Given the description of an element on the screen output the (x, y) to click on. 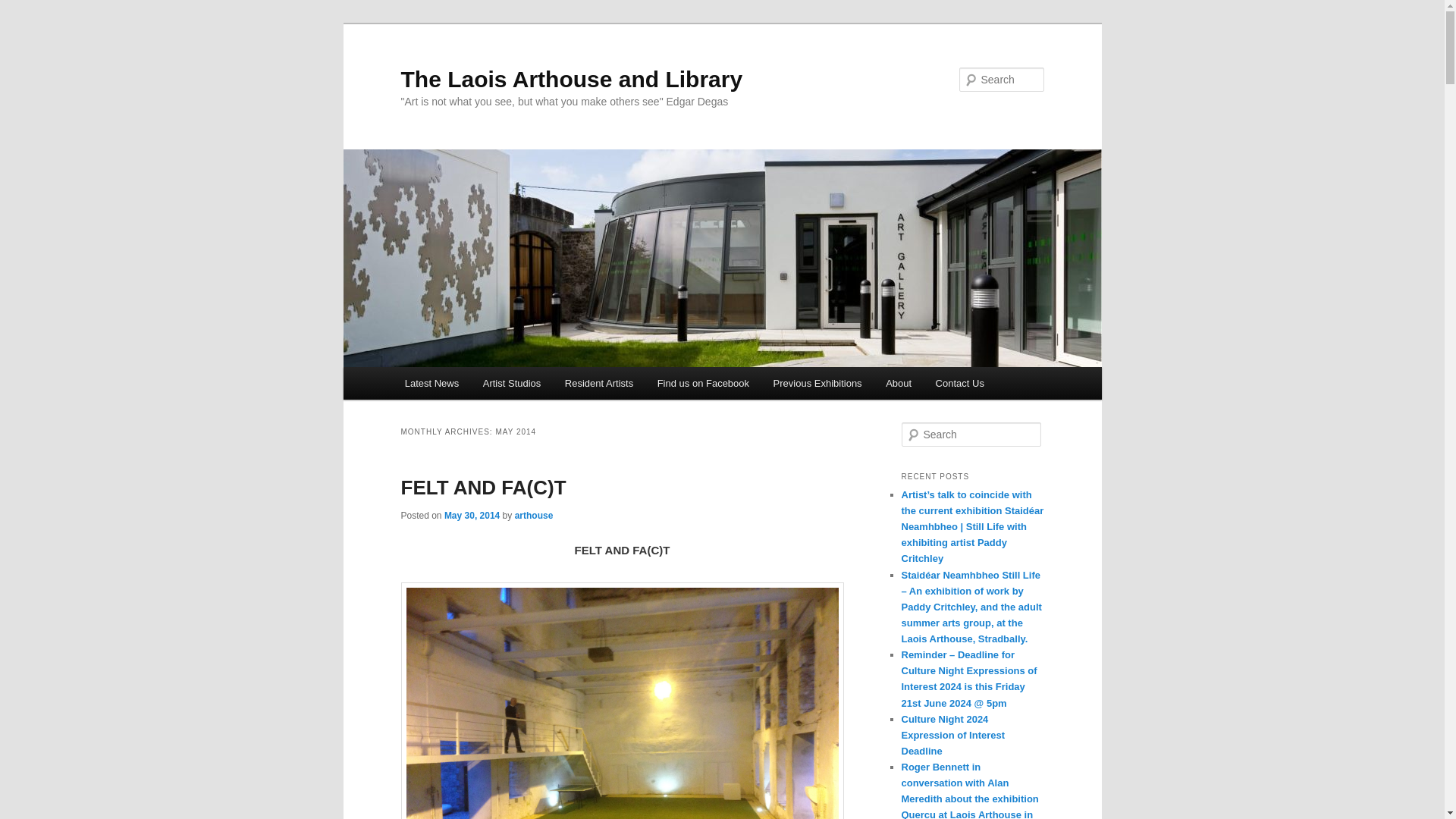
Artist Studios (511, 382)
arthouse (534, 515)
Resident Artists (599, 382)
The Laois Arthouse and Library (571, 78)
Contact Us (959, 382)
May 30, 2014 (471, 515)
Latest News (431, 382)
Previous Exhibitions (818, 382)
Search (24, 8)
About (898, 382)
Find us on Facebook (703, 382)
